Given the description of an element on the screen output the (x, y) to click on. 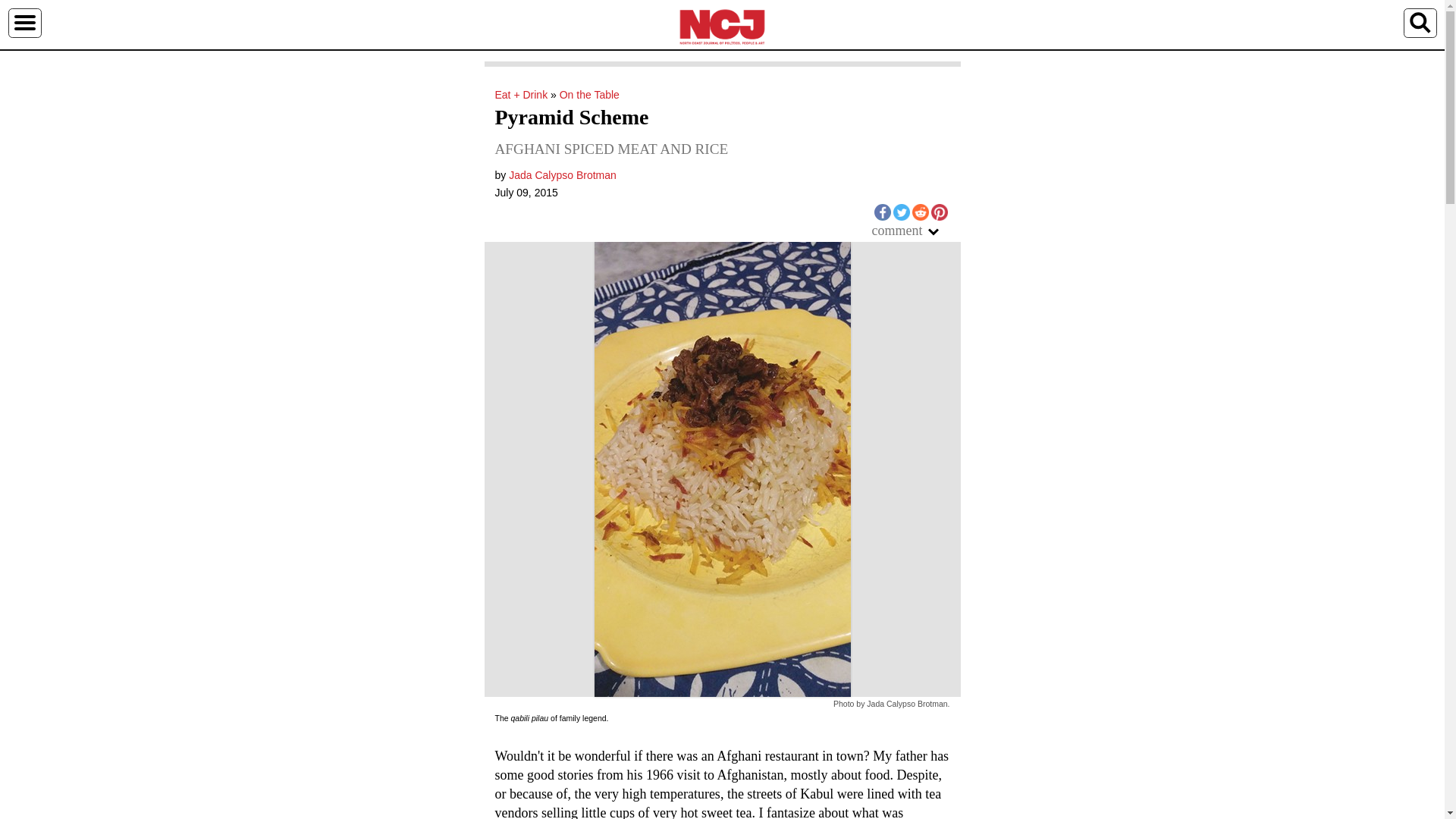
North Coast Journal (722, 26)
MENU (23, 22)
Jada Calypso Brotman (561, 174)
Twitter (901, 211)
On the Table (589, 94)
Facebook (881, 211)
comment (911, 230)
Pinterest (939, 211)
SEARCH (1419, 22)
Reddit (919, 211)
